Given the description of an element on the screen output the (x, y) to click on. 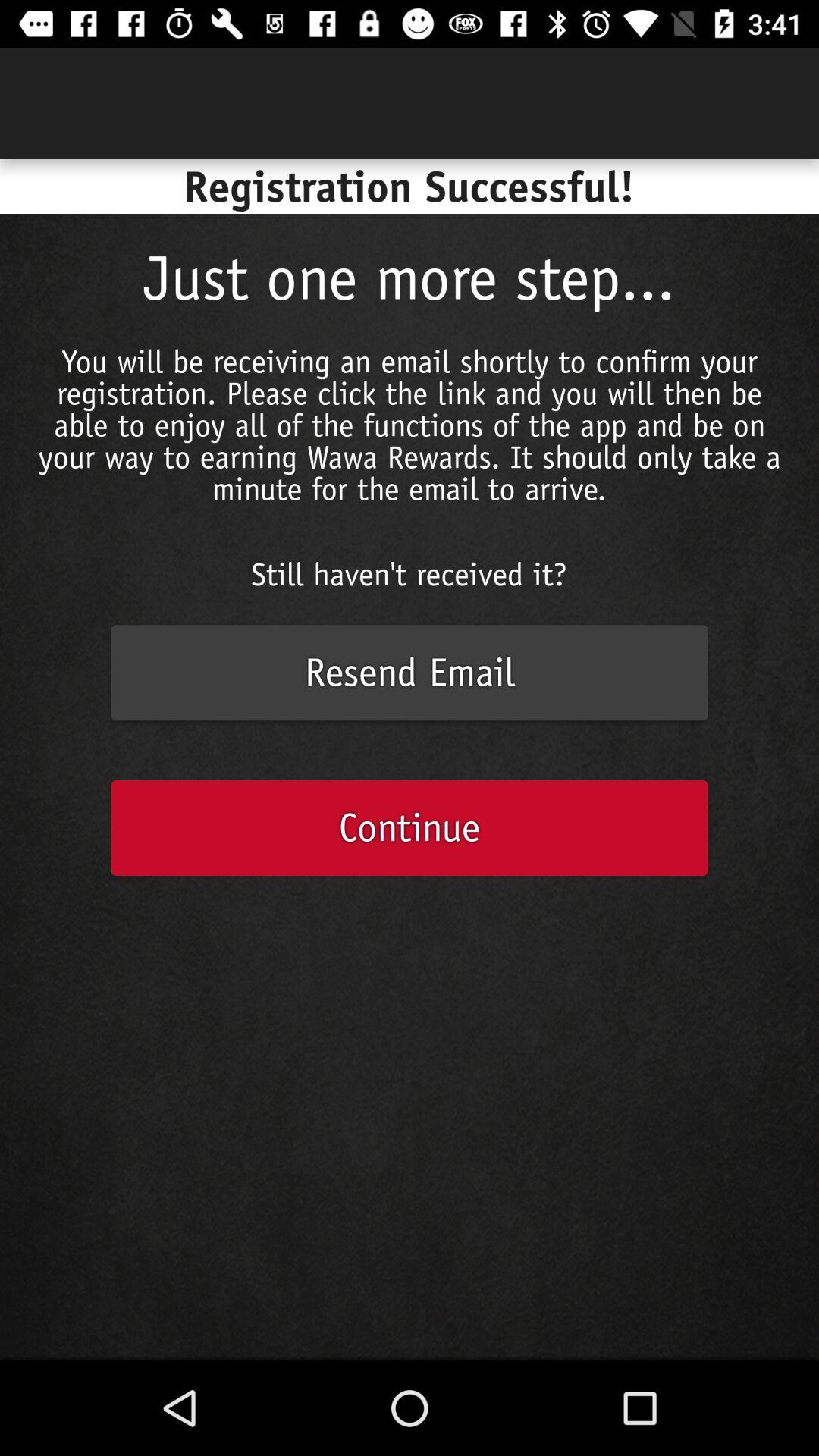
press resend email (409, 672)
